Given the description of an element on the screen output the (x, y) to click on. 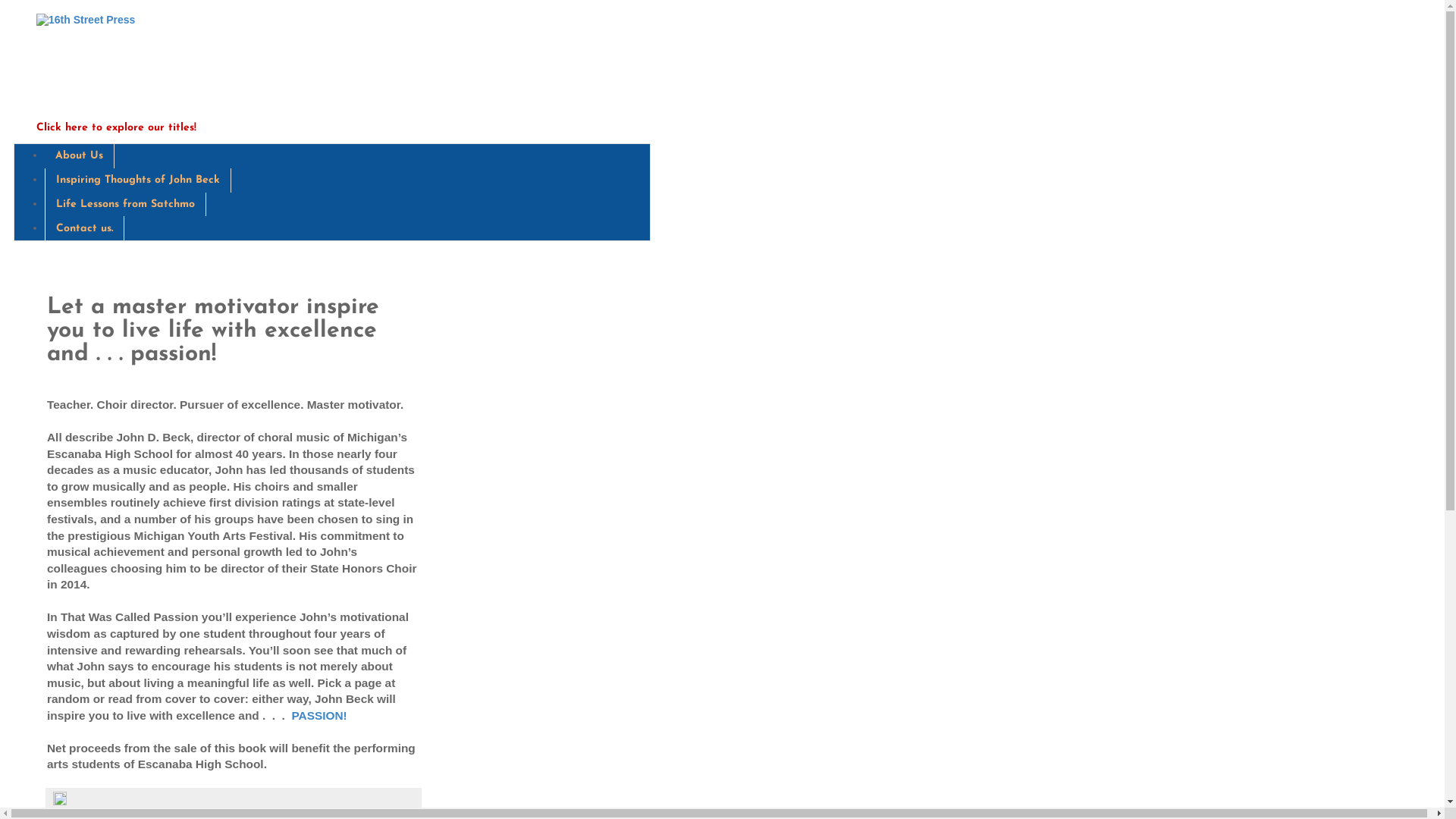
Life Lessons from Satchmo Element type: text (125, 204)
Contact us. Element type: text (84, 228)
Edit Post Element type: hover (59, 802)
About Us Element type: text (79, 156)
Inspiring Thoughts of John Beck Element type: text (137, 180)
